Given the description of an element on the screen output the (x, y) to click on. 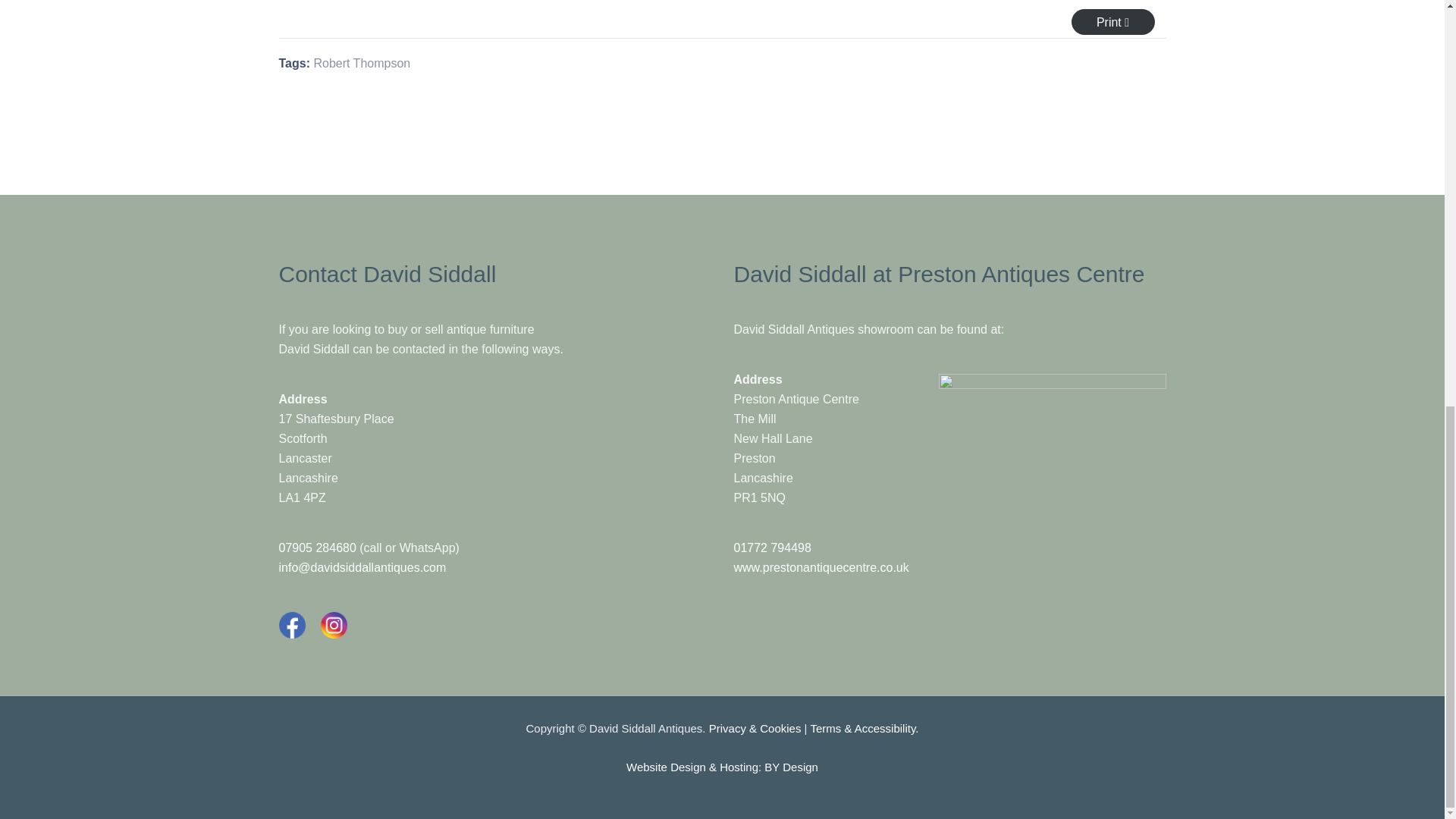
www.prestonantiquecentre.co.uk (820, 567)
07905 284680 (317, 547)
Robert Thompson (361, 62)
01772 794498 (771, 547)
